Given the description of an element on the screen output the (x, y) to click on. 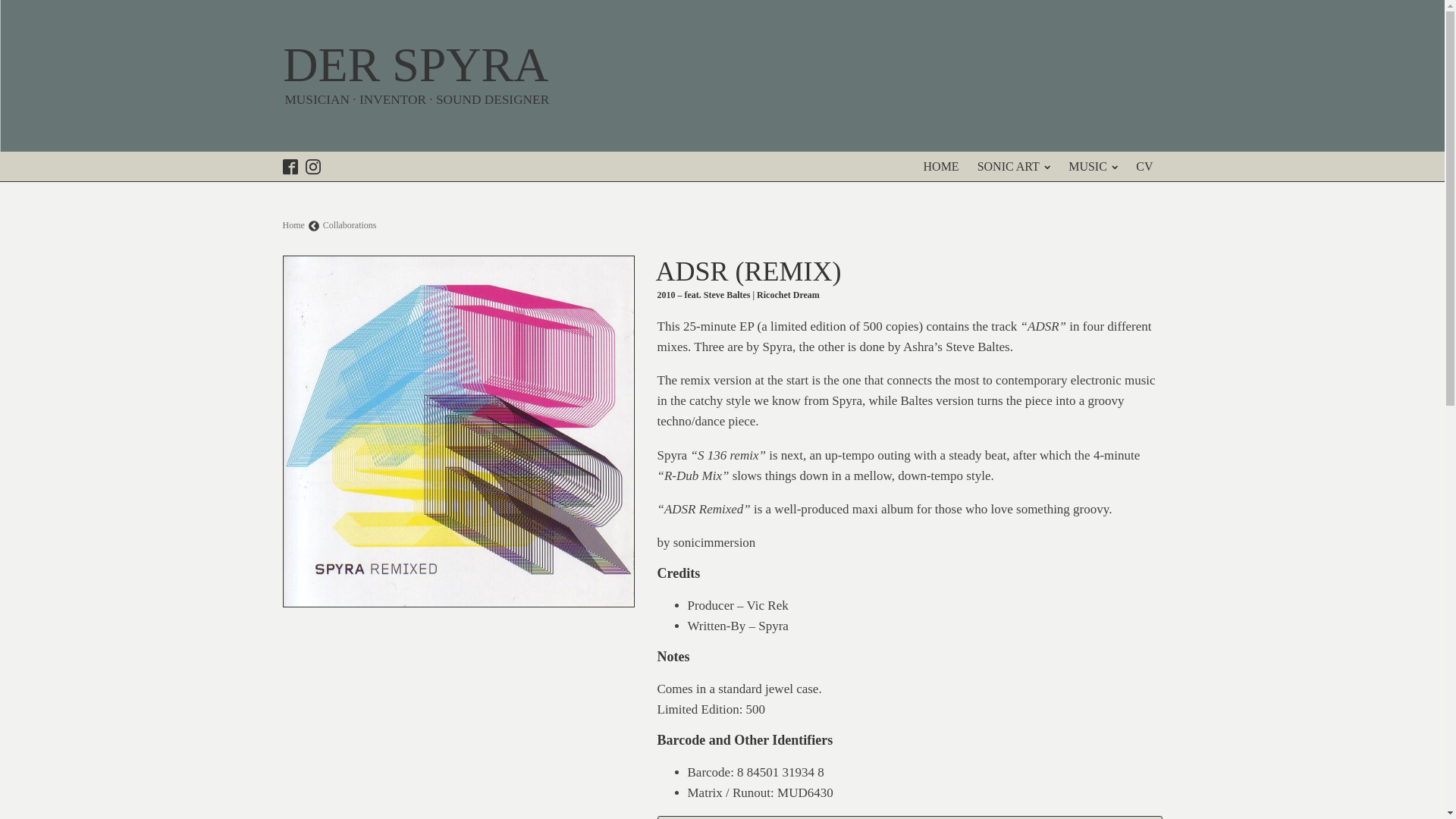
CV (1143, 166)
MUSIC (1092, 166)
Home (293, 225)
HOME (941, 166)
Collaborations (350, 225)
SONIC ART (1013, 166)
